Given the description of an element on the screen output the (x, y) to click on. 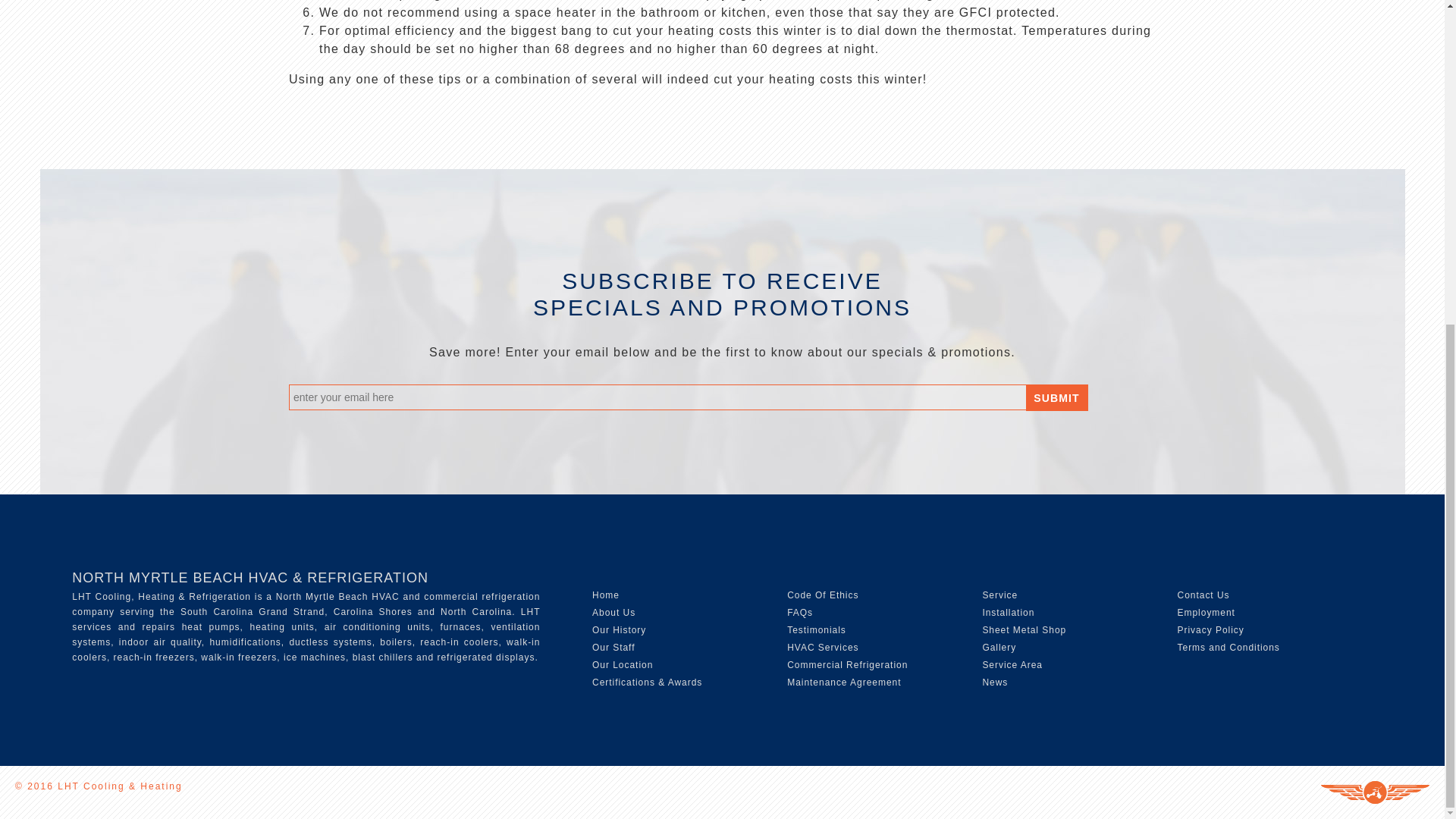
Home (606, 594)
FAQs (799, 612)
HVAC Services (823, 647)
About Us (613, 612)
SUBMIT (1056, 397)
Code Of Ethics (823, 594)
SUBMIT (1056, 397)
Installation (1007, 612)
Service (999, 594)
Commercial Refrigeration (847, 665)
Maintenance Agreement (844, 682)
Our History (619, 629)
Testimonials (816, 629)
Our Location (622, 665)
Our Staff (613, 647)
